Given the description of an element on the screen output the (x, y) to click on. 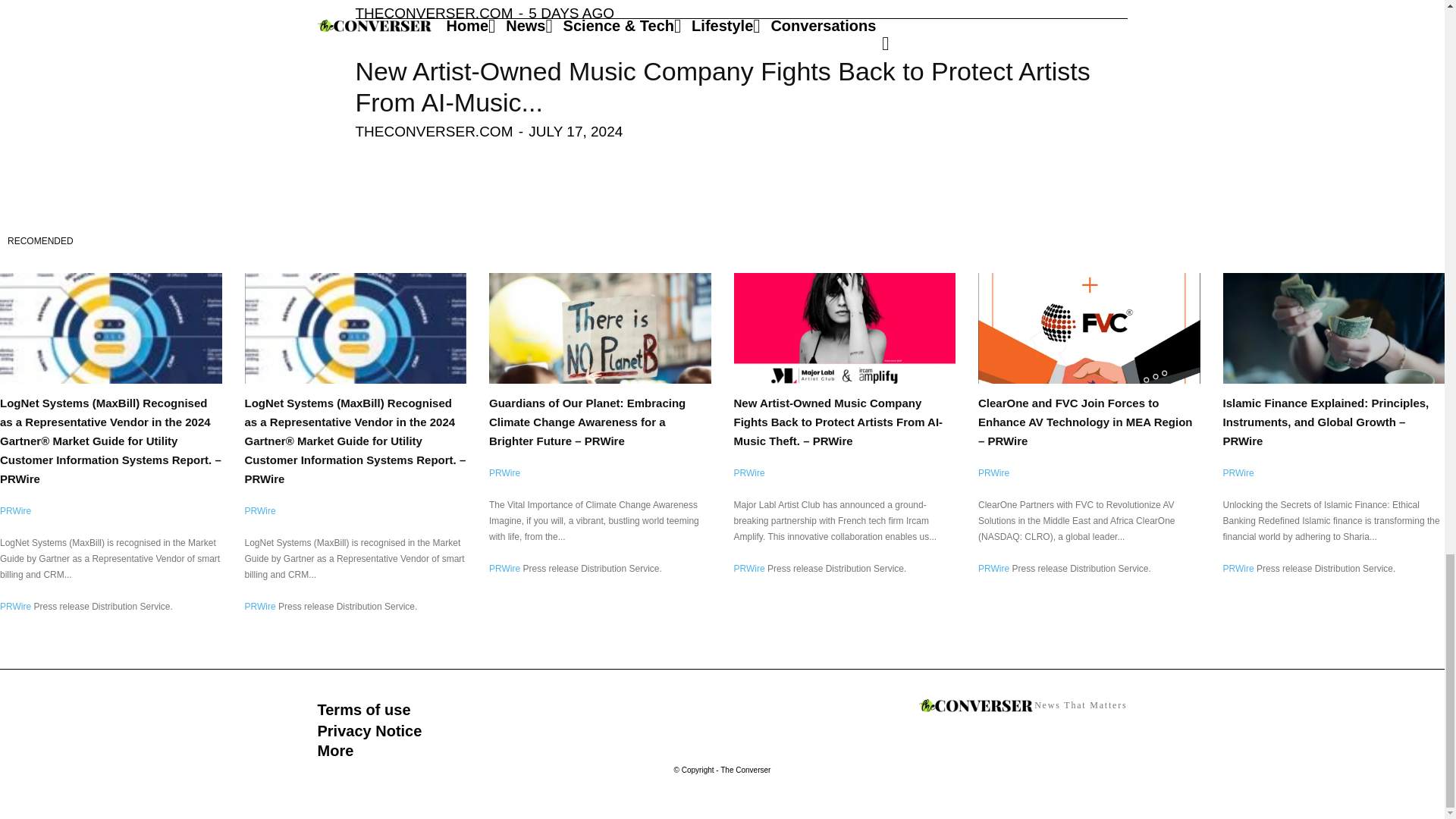
THECONVERSER.COM (433, 12)
